Given the description of an element on the screen output the (x, y) to click on. 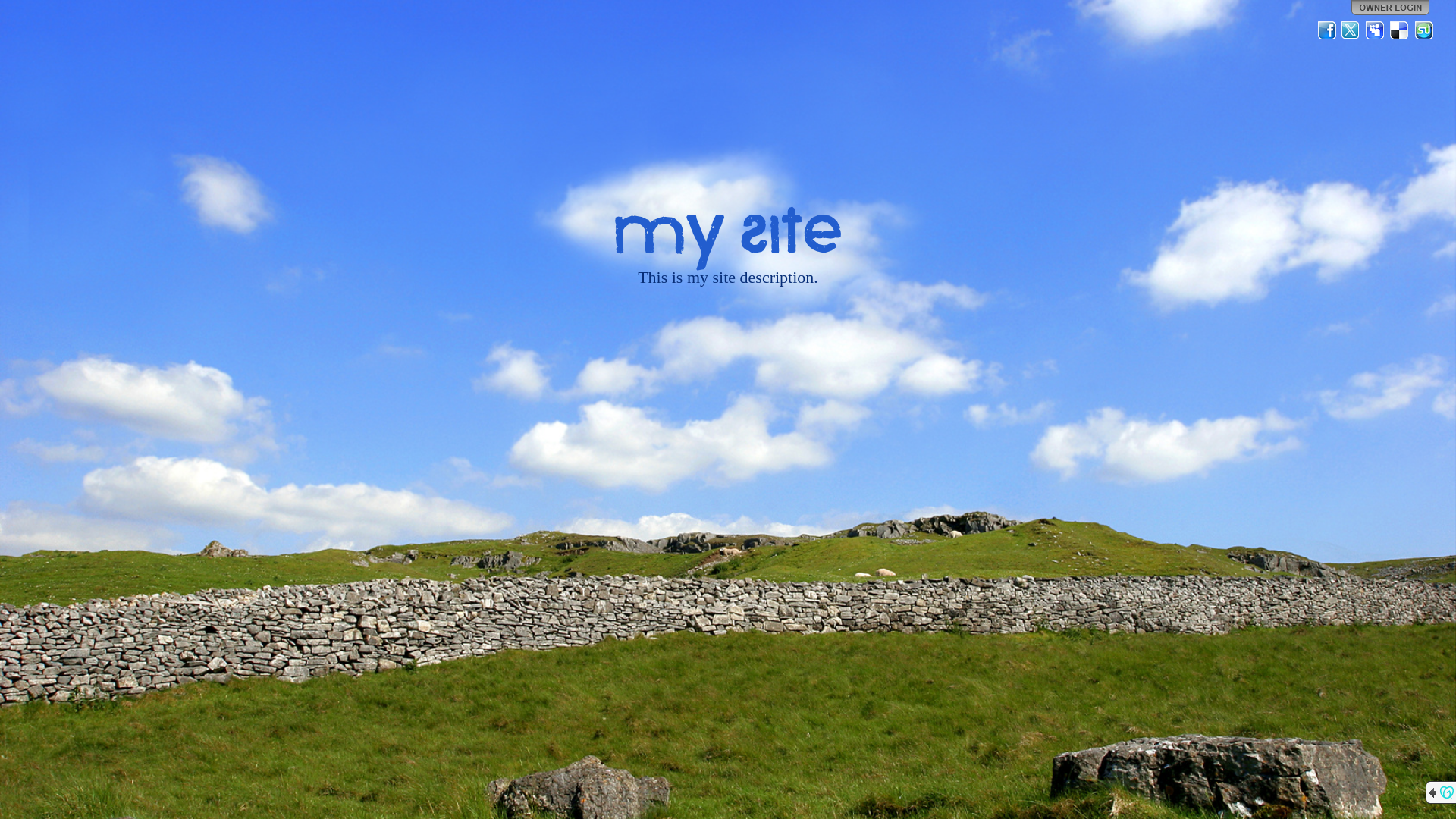
Del.icio.us Element type: text (1399, 29)
StumbleUpon Element type: text (1423, 29)
Facebook Element type: text (1326, 29)
MySpace Element type: text (1375, 29)
Twitter Element type: text (1350, 29)
